Given the description of an element on the screen output the (x, y) to click on. 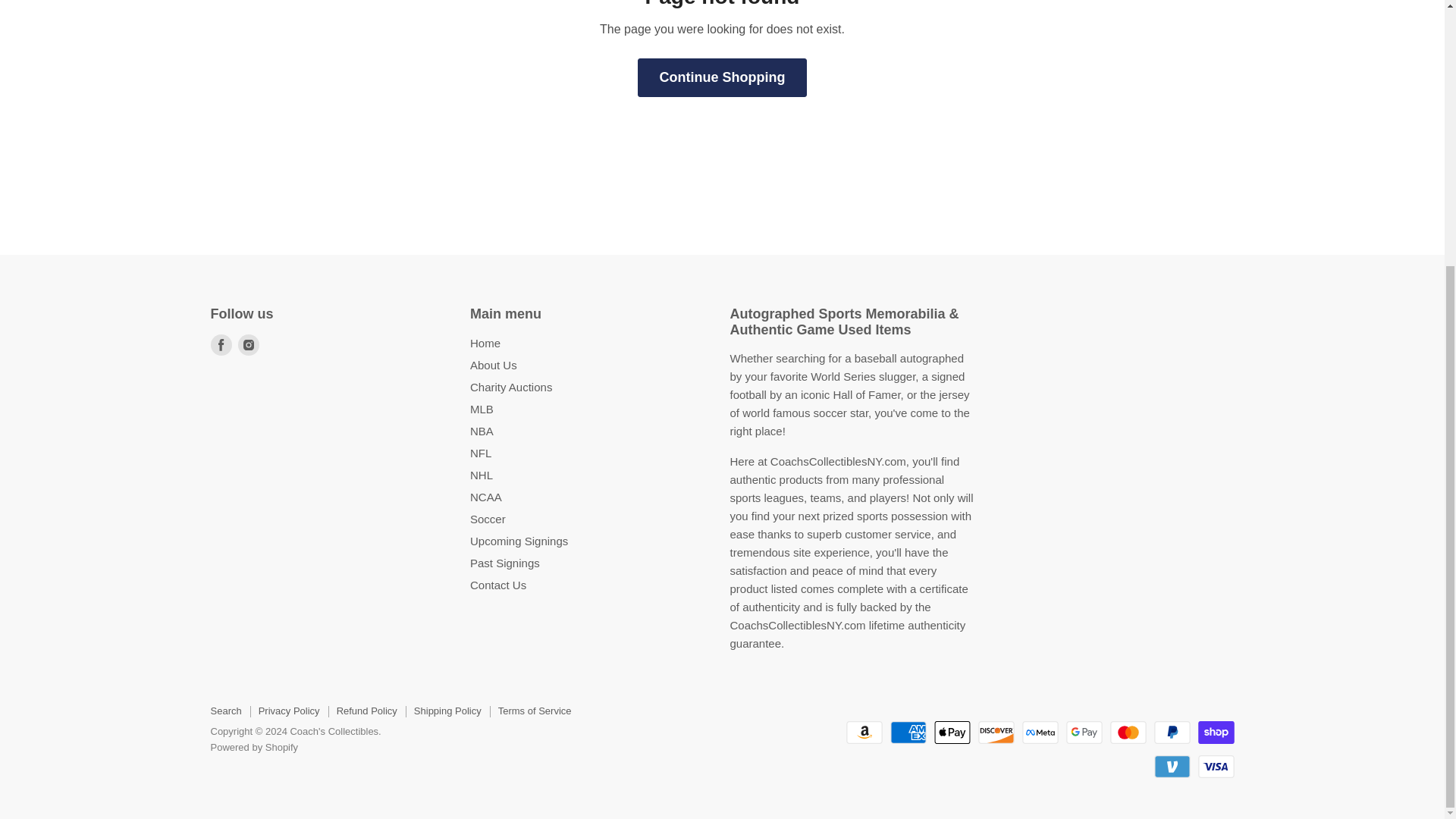
Shop Pay (1216, 732)
Facebook (221, 344)
Meta Pay (1040, 732)
Discover (996, 732)
Amazon (863, 732)
American Express (907, 732)
Instagram (248, 344)
Google Pay (1083, 732)
Venmo (1172, 766)
Visa (1216, 766)
Mastercard (1128, 732)
Apple Pay (952, 732)
PayPal (1172, 732)
